Given the description of an element on the screen output the (x, y) to click on. 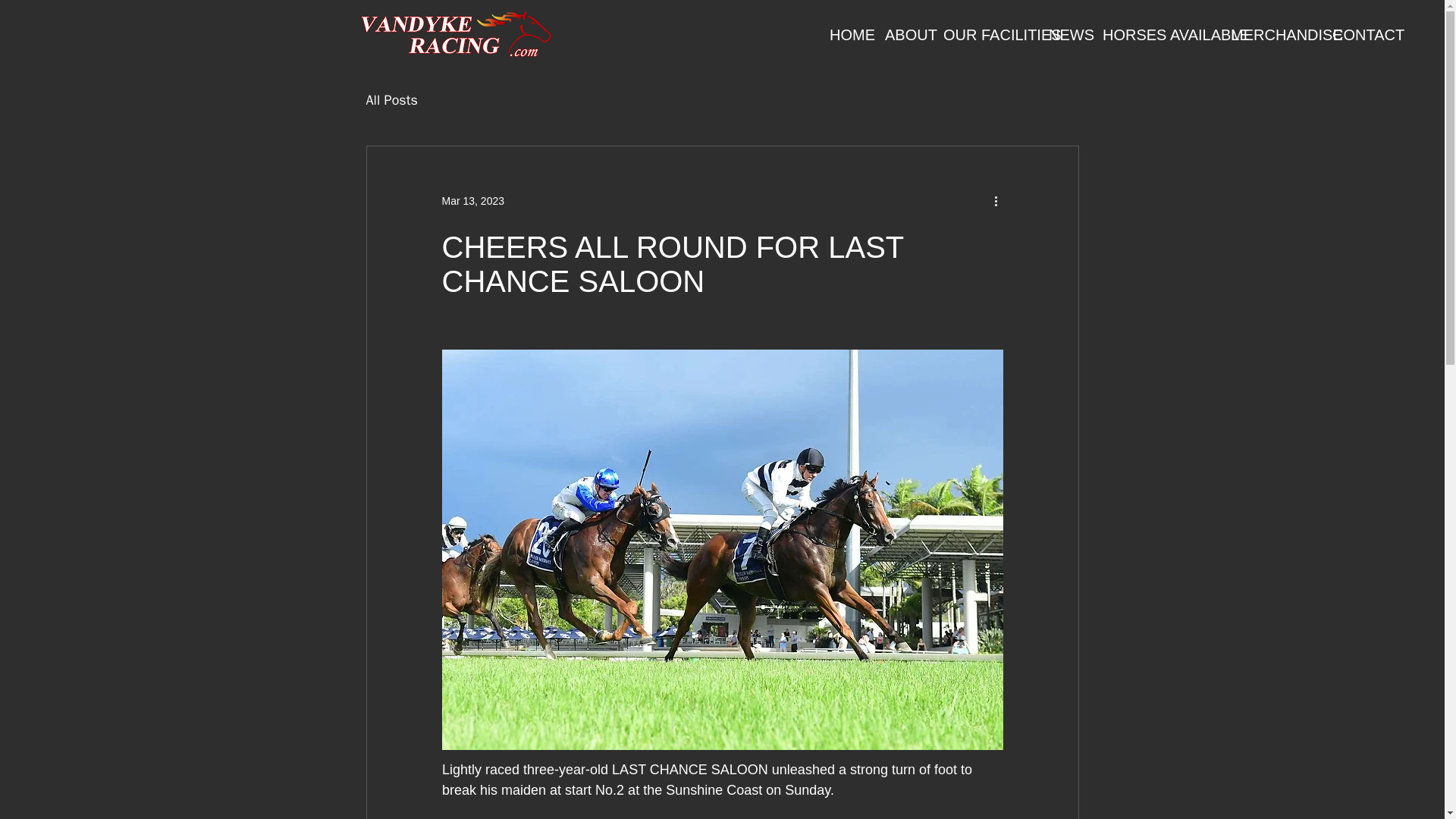
HORSES AVAILABLE (1155, 34)
CONTACT (1355, 34)
NEWS (1063, 34)
OUR FACILITIES (983, 34)
MERCHANDISE (1270, 34)
All Posts (390, 99)
ABOUT (902, 34)
Mar 13, 2023 (472, 200)
HOME (845, 34)
